Given the description of an element on the screen output the (x, y) to click on. 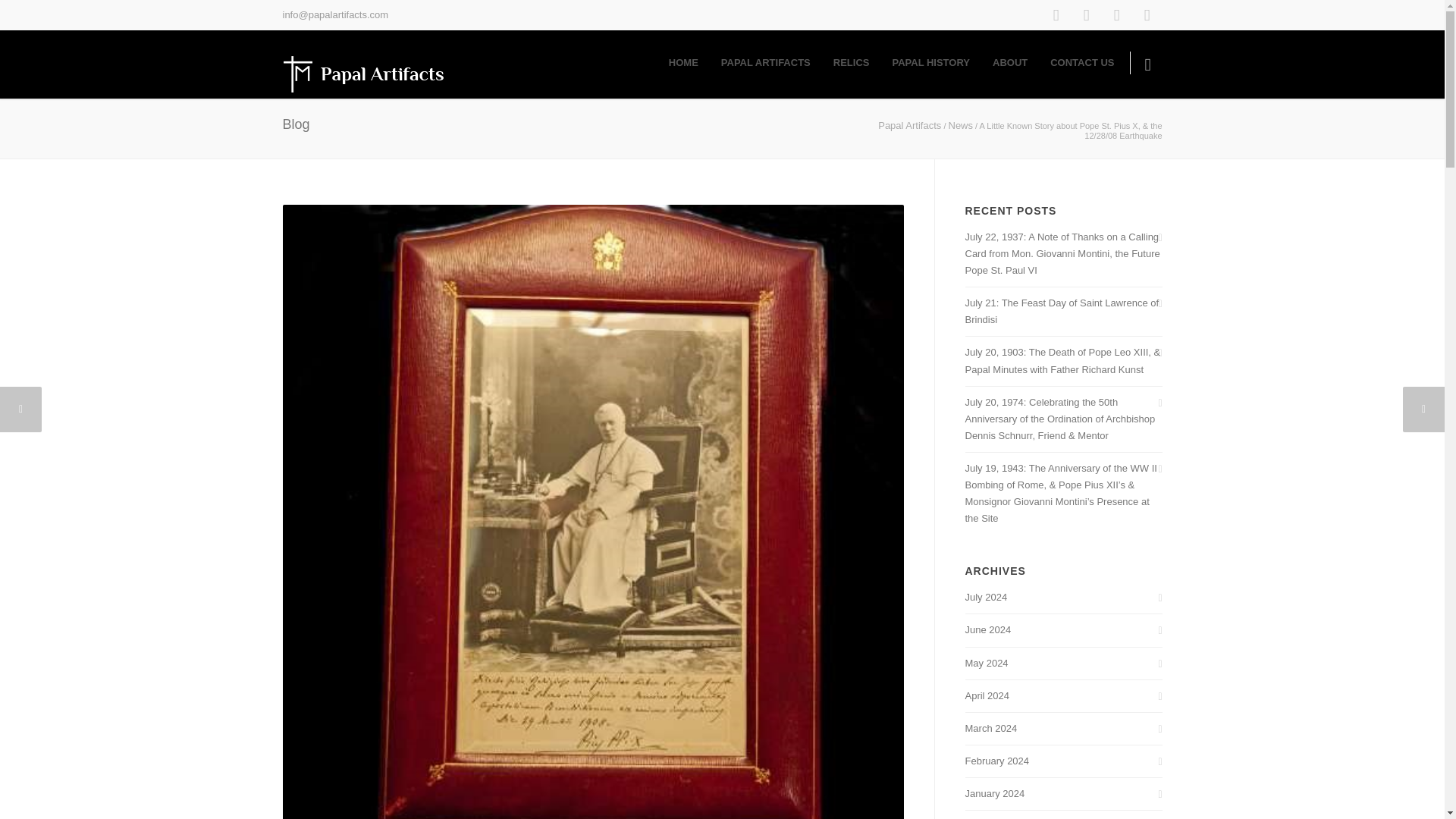
PAPAL HISTORY (930, 62)
CONTACT US (1082, 62)
Facebook (1055, 15)
YouTube (1146, 15)
ABOUT (1010, 62)
RSS (1115, 15)
RELICS (851, 62)
HOME (684, 62)
PAPAL ARTIFACTS (766, 62)
